Given the description of an element on the screen output the (x, y) to click on. 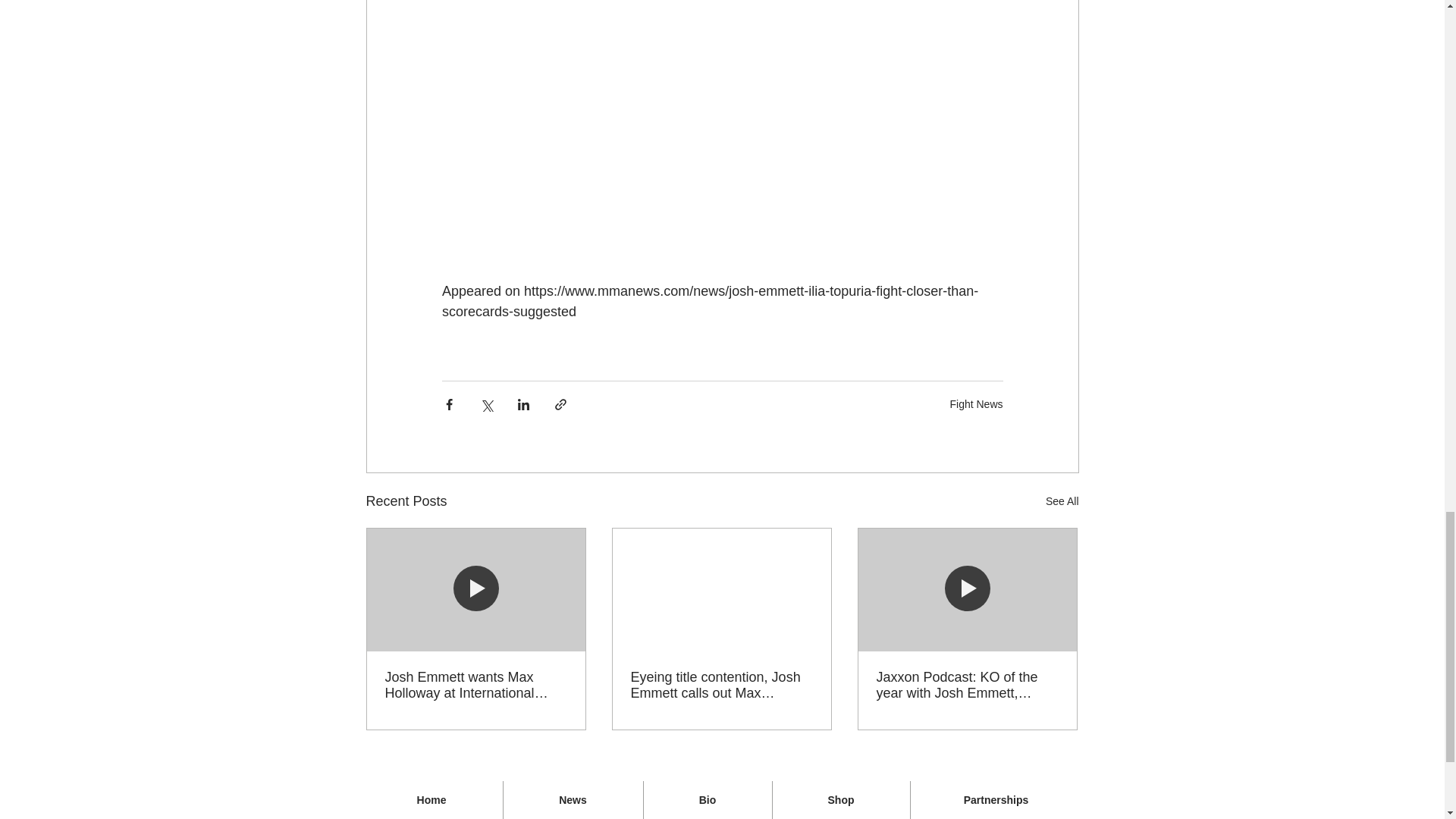
Bio (707, 800)
See All (1061, 501)
Shop (839, 800)
News (573, 800)
Home (431, 800)
Fight News (976, 404)
